Given the description of an element on the screen output the (x, y) to click on. 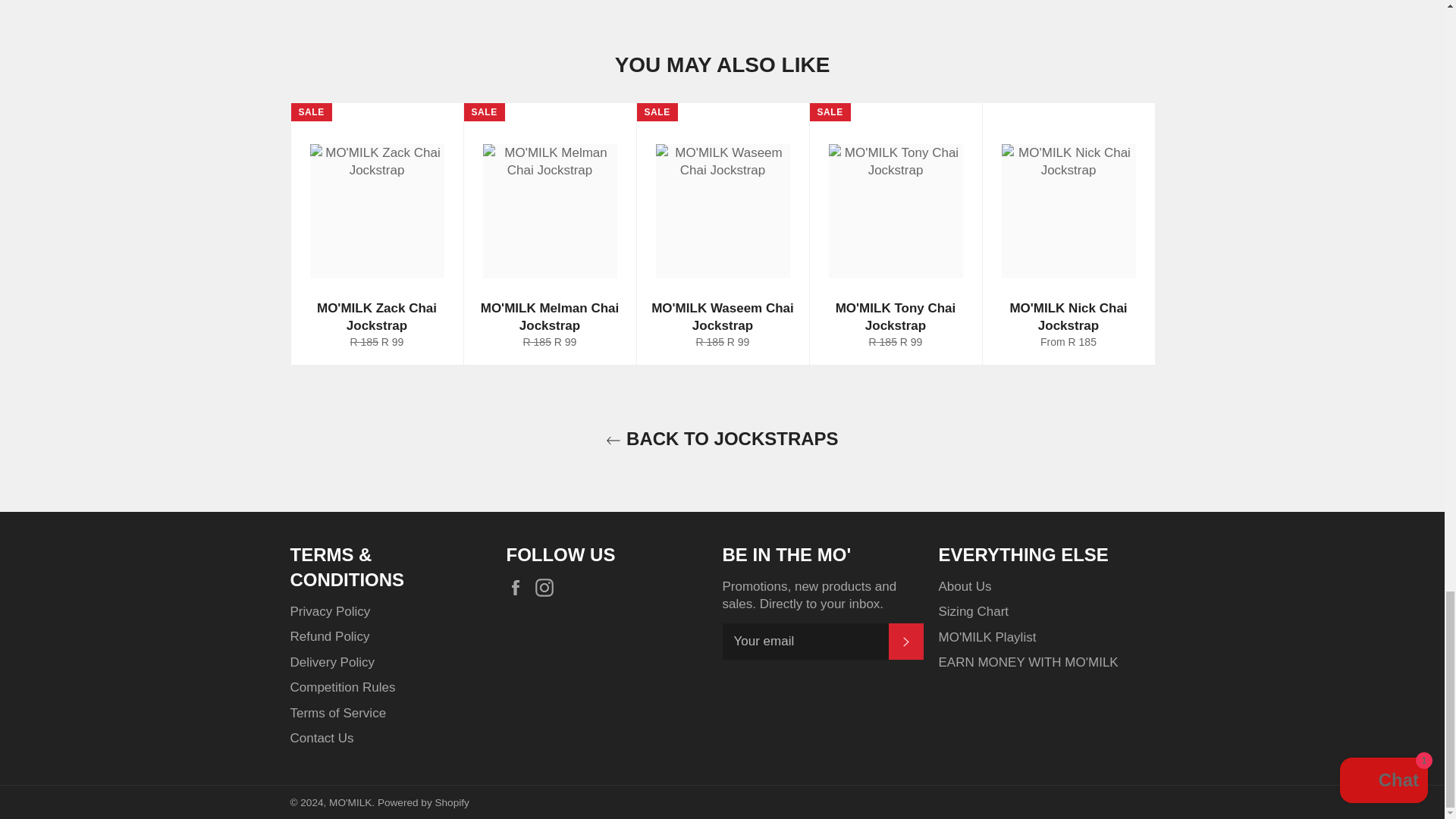
MO'MILK on Facebook (519, 587)
MO'MILK on Instagram (547, 587)
